Given the description of an element on the screen output the (x, y) to click on. 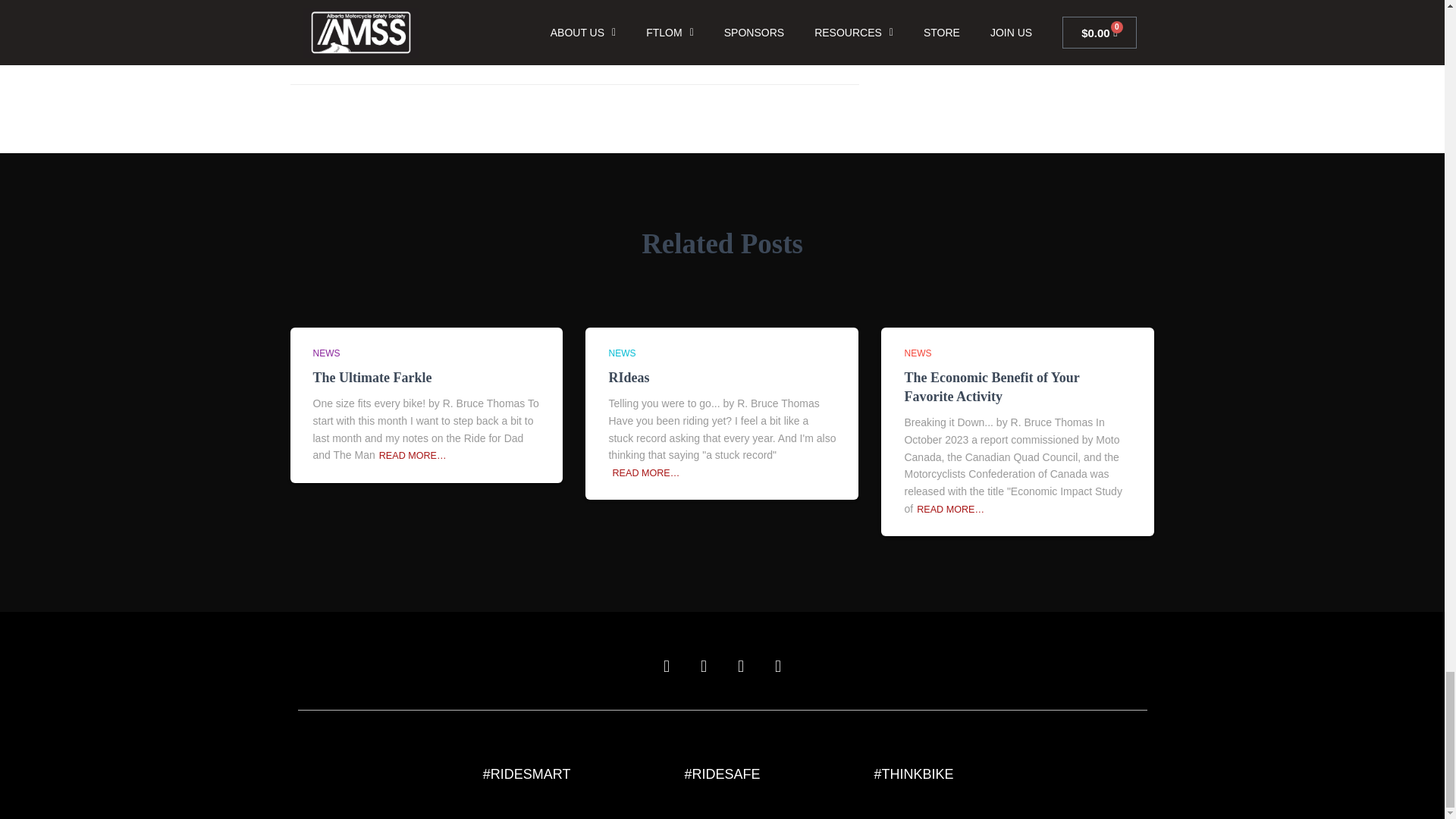
The Ultimate Farkle (371, 377)
The Economic Benefit of Your Favorite Activity (991, 387)
View all posts in News (326, 353)
View all posts in News (621, 353)
View all posts in News (917, 353)
RIdeas (628, 377)
